Given the description of an element on the screen output the (x, y) to click on. 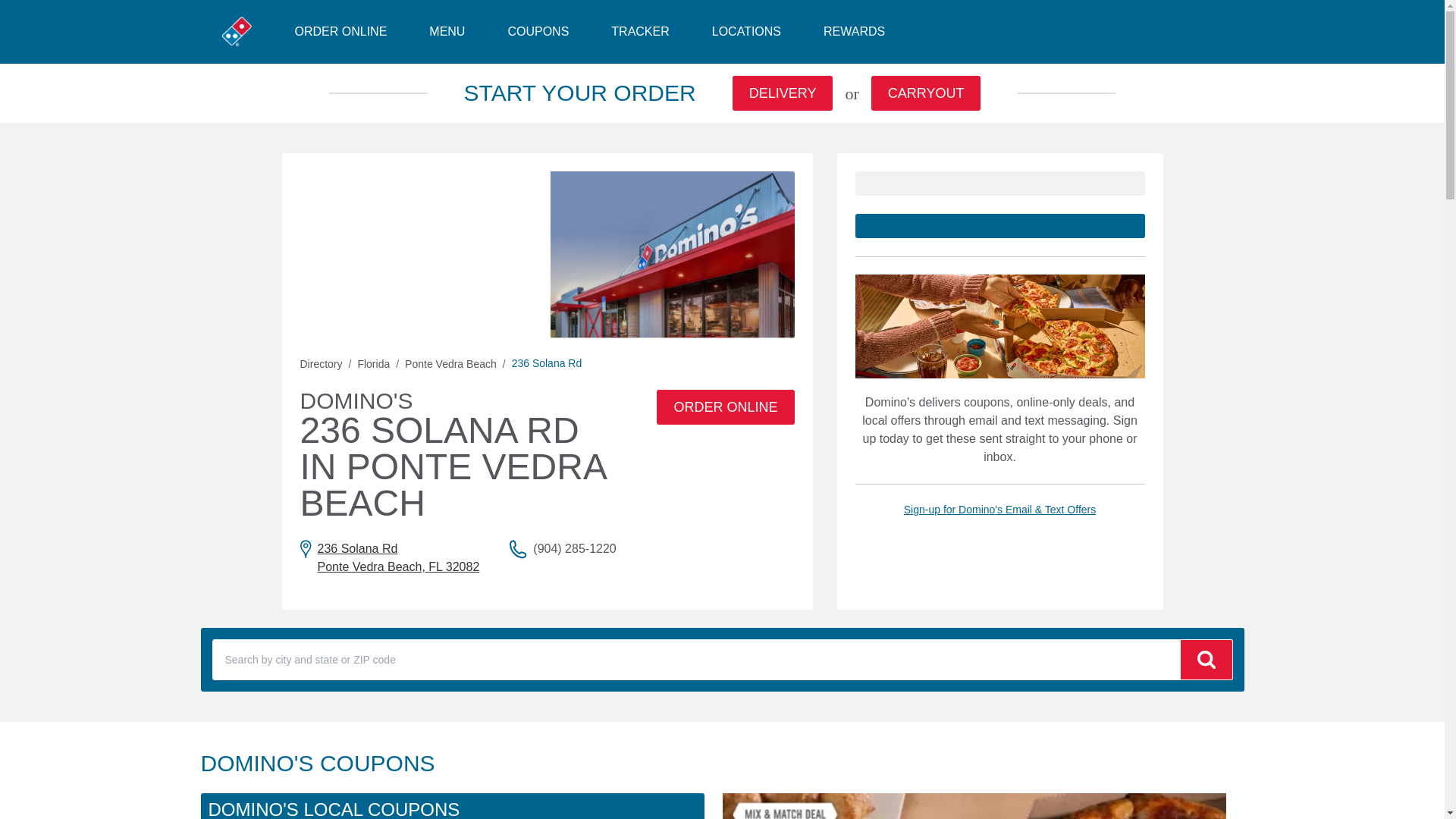
TRACKER (389, 557)
CARRYOUT (639, 31)
DELIVERY (925, 93)
MENU (782, 93)
ORDER ONLINE (446, 31)
LOCATIONS (340, 31)
Florida (746, 31)
Directory (435, 566)
COUPONS (320, 363)
Florida (537, 31)
REWARDS (373, 363)
Ponte Vedra Beach (853, 31)
ORDER ONLINE (450, 363)
